Given the description of an element on the screen output the (x, y) to click on. 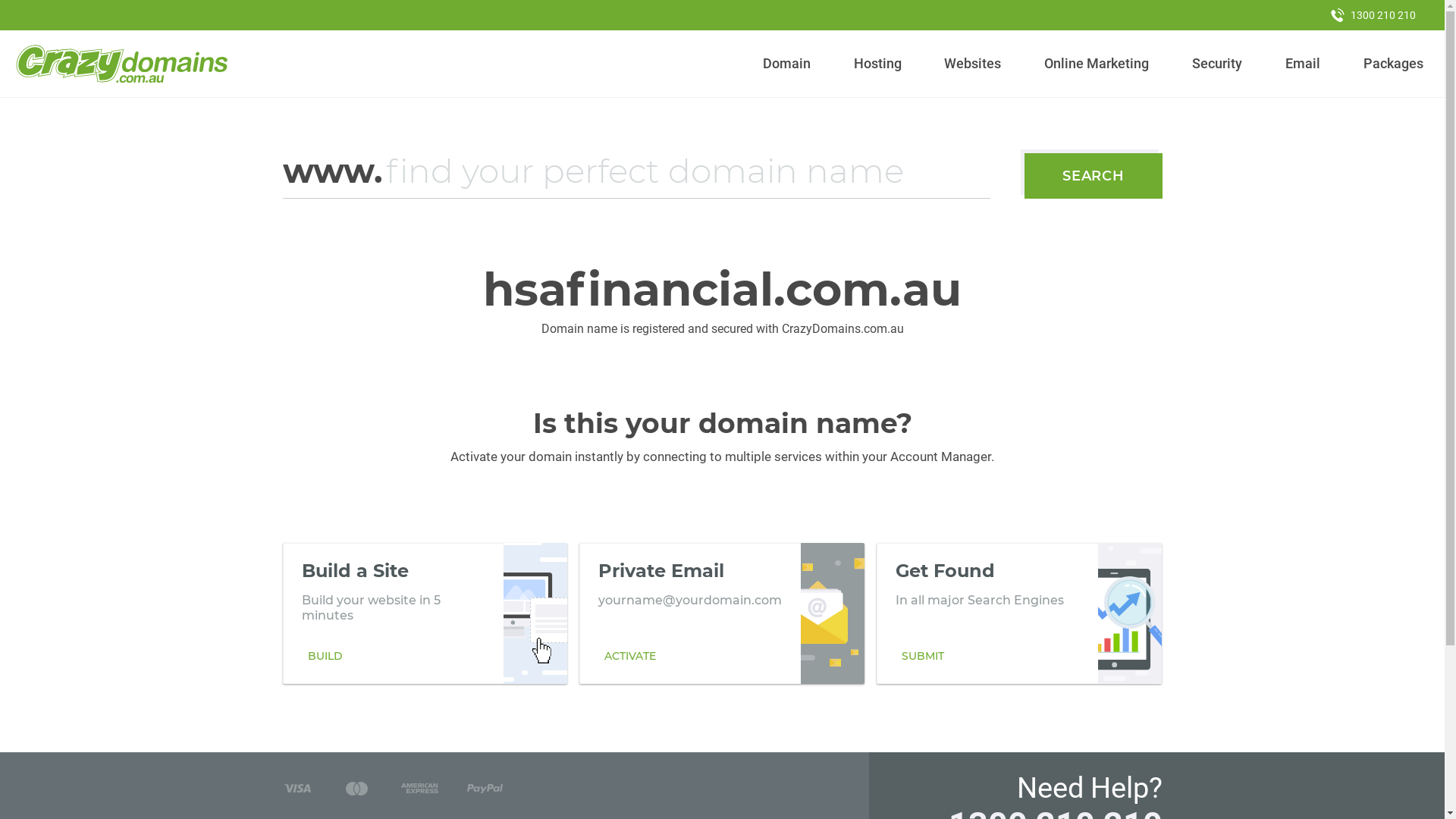
Build a Site
Build your website in 5 minutes
BUILD Element type: text (424, 613)
Websites Element type: text (972, 63)
Domain Element type: text (786, 63)
Security Element type: text (1217, 63)
Get Found
In all major Search Engines
SUBMIT Element type: text (1018, 613)
SEARCH Element type: text (1092, 175)
1300 210 210 Element type: text (1373, 15)
Email Element type: text (1302, 63)
Private Email
yourname@yourdomain.com
ACTIVATE Element type: text (721, 613)
Packages Element type: text (1392, 63)
Online Marketing Element type: text (1096, 63)
Hosting Element type: text (877, 63)
